Given the description of an element on the screen output the (x, y) to click on. 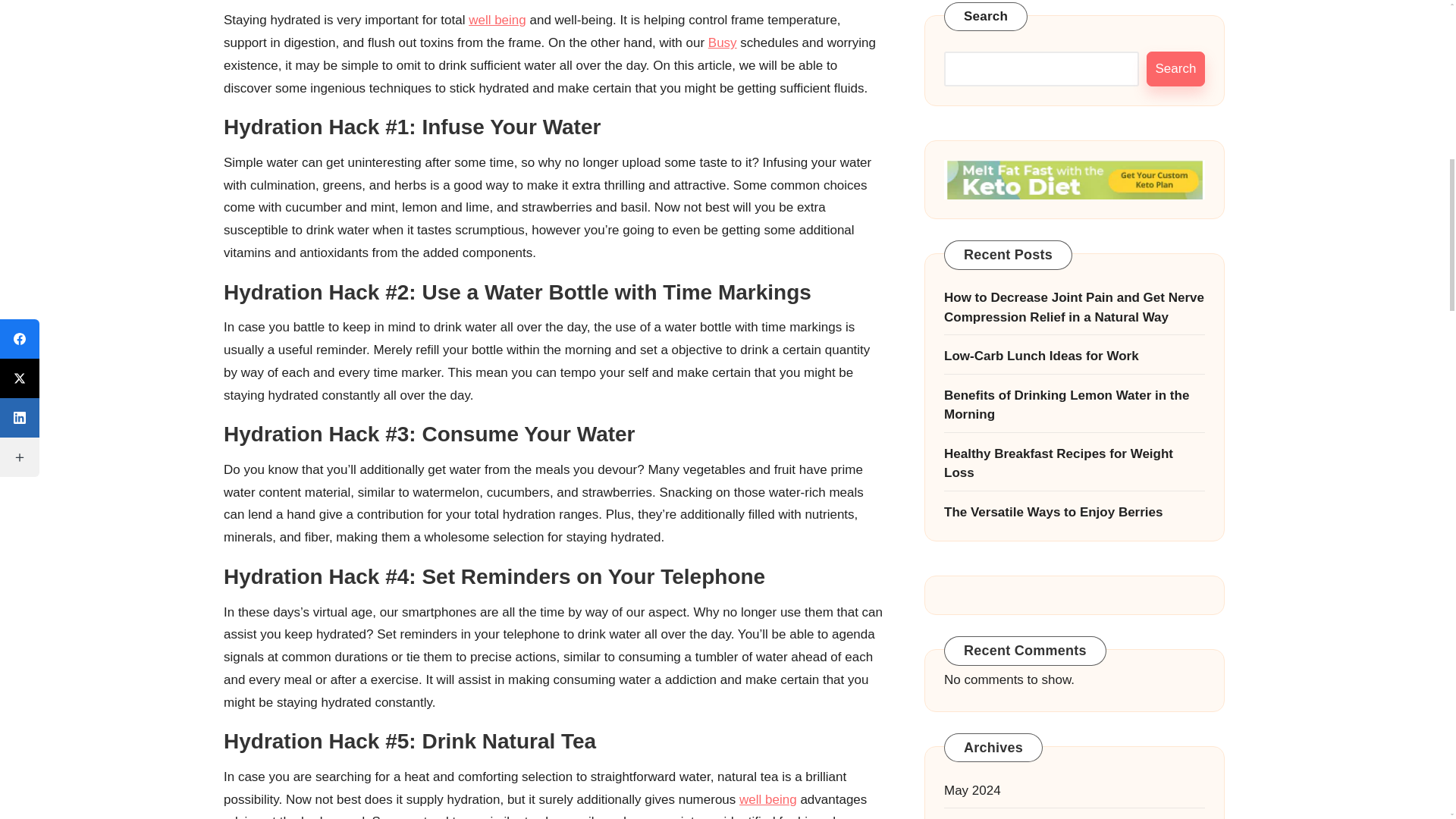
Busy (721, 42)
well being (767, 799)
well being (496, 20)
